Given the description of an element on the screen output the (x, y) to click on. 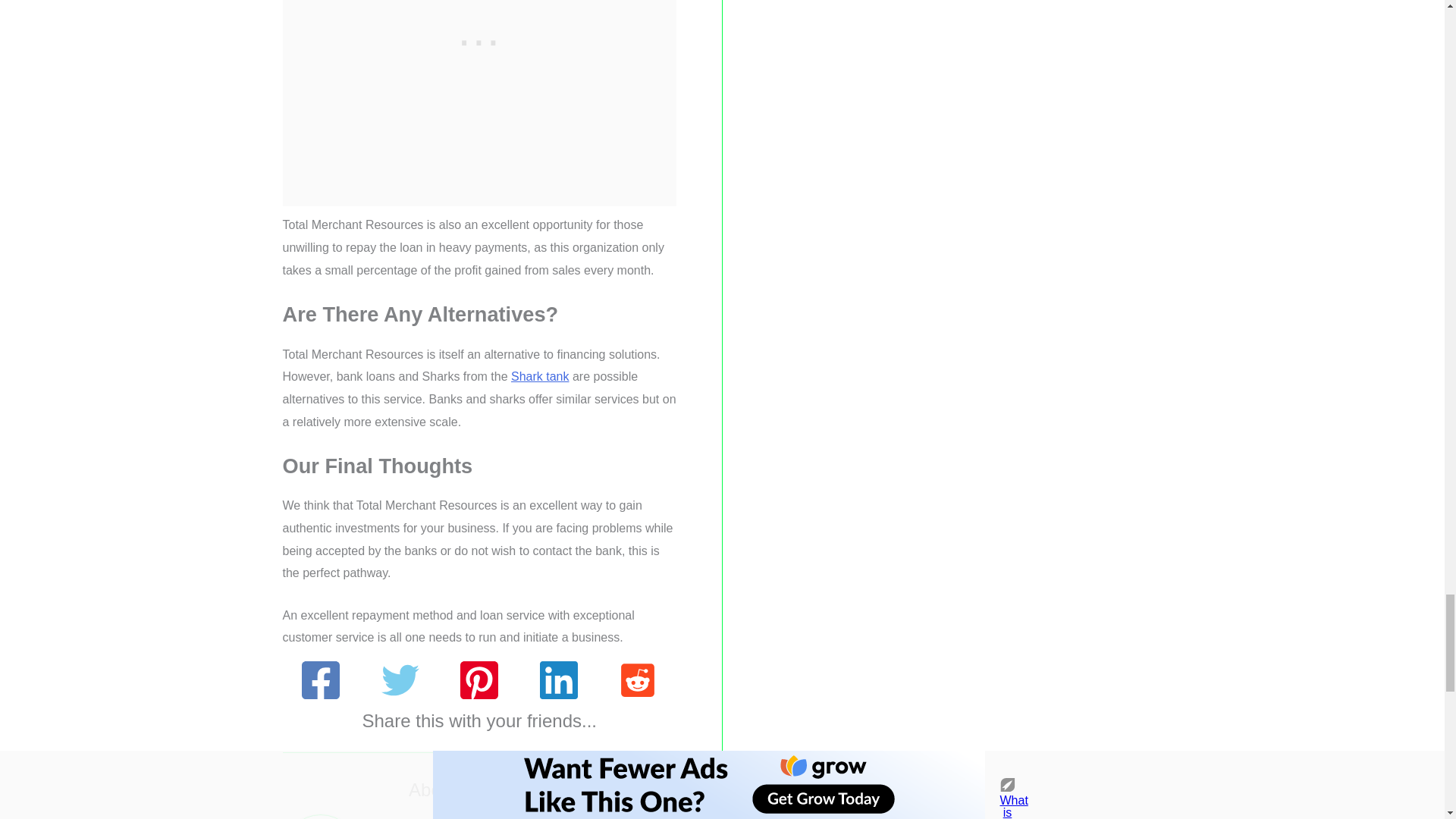
Shark tank (540, 376)
